Given the description of an element on the screen output the (x, y) to click on. 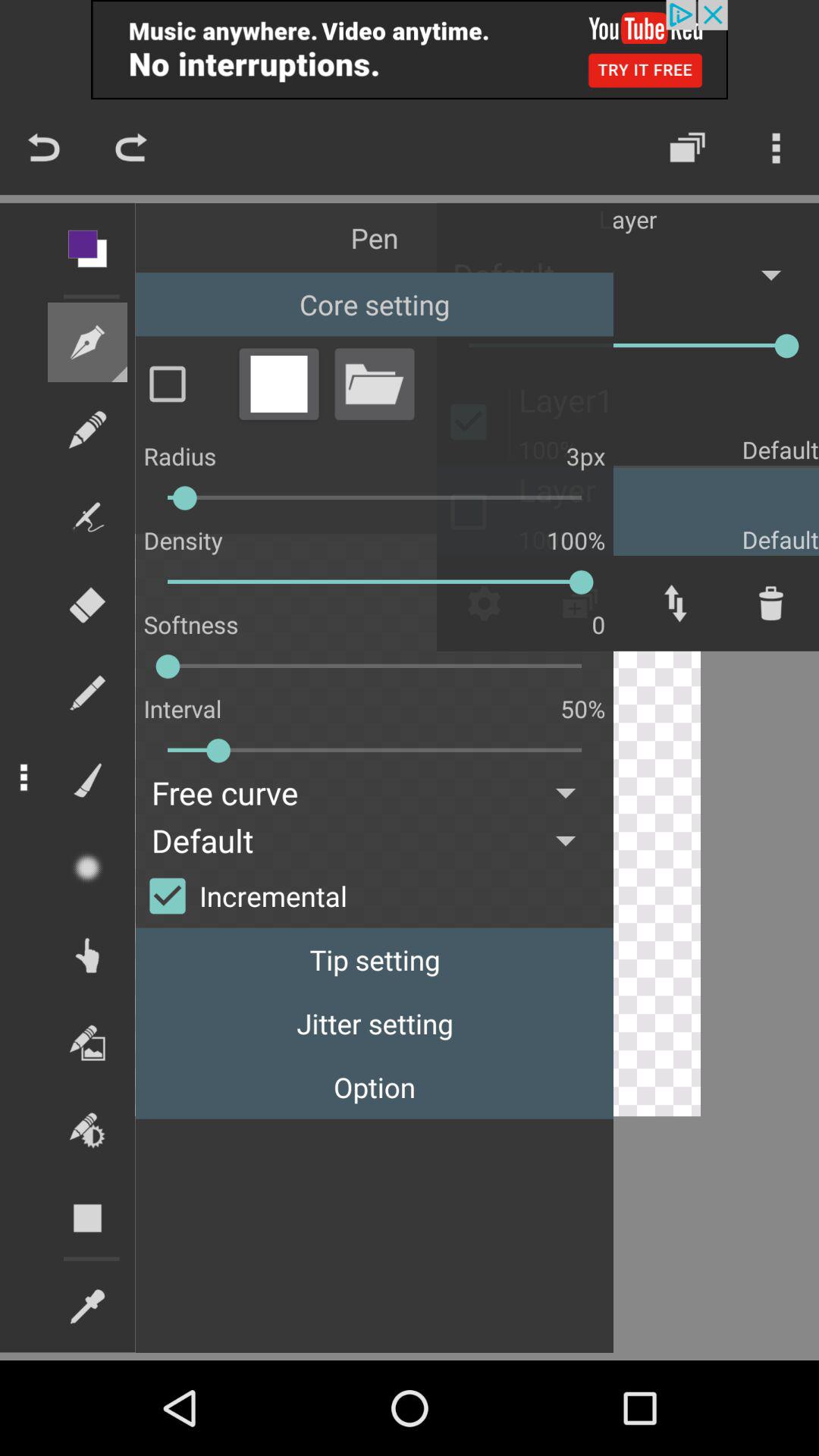
confirm settings (182, 383)
